Given the description of an element on the screen output the (x, y) to click on. 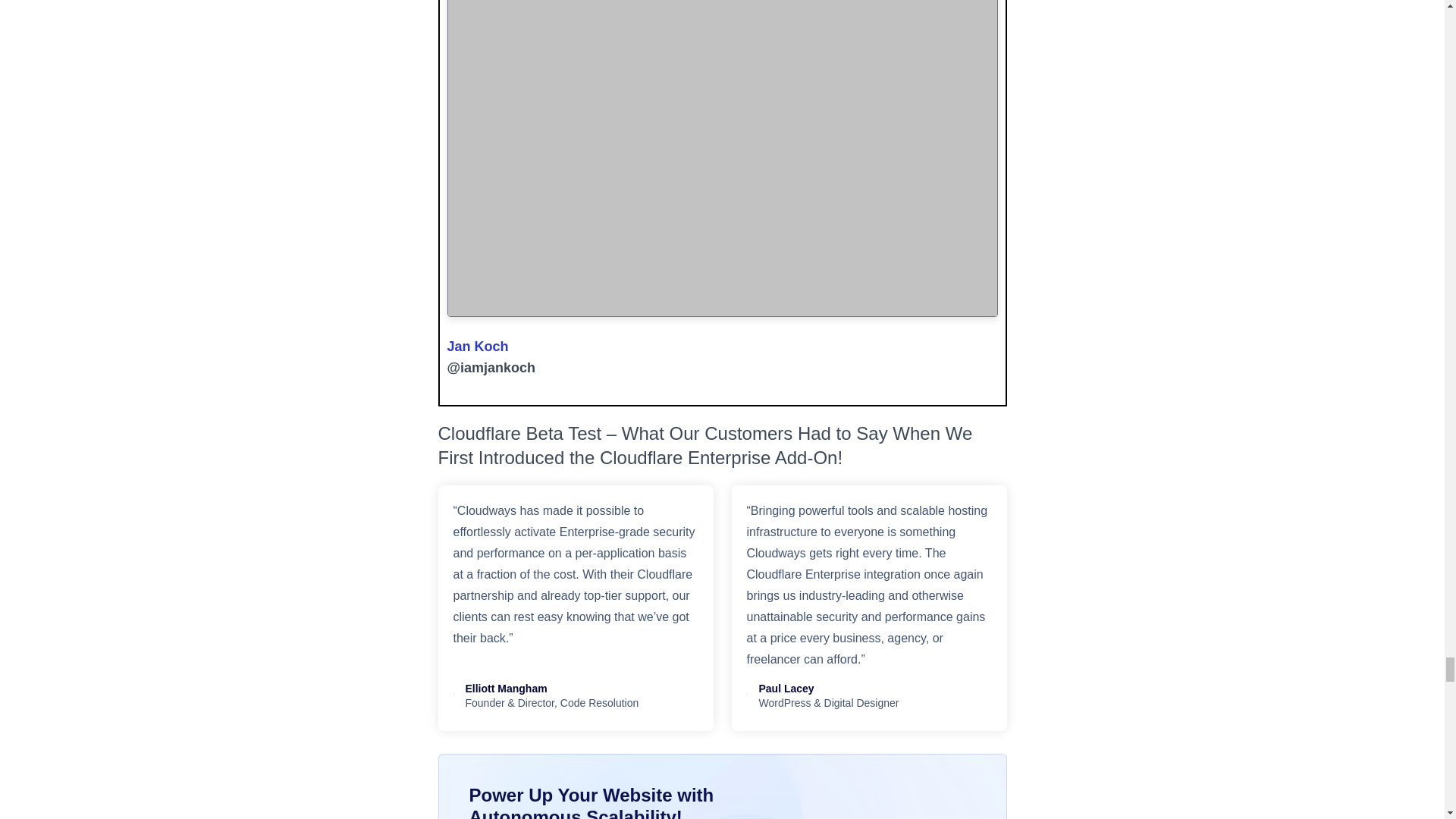
Jan Koch (477, 346)
